Given the description of an element on the screen output the (x, y) to click on. 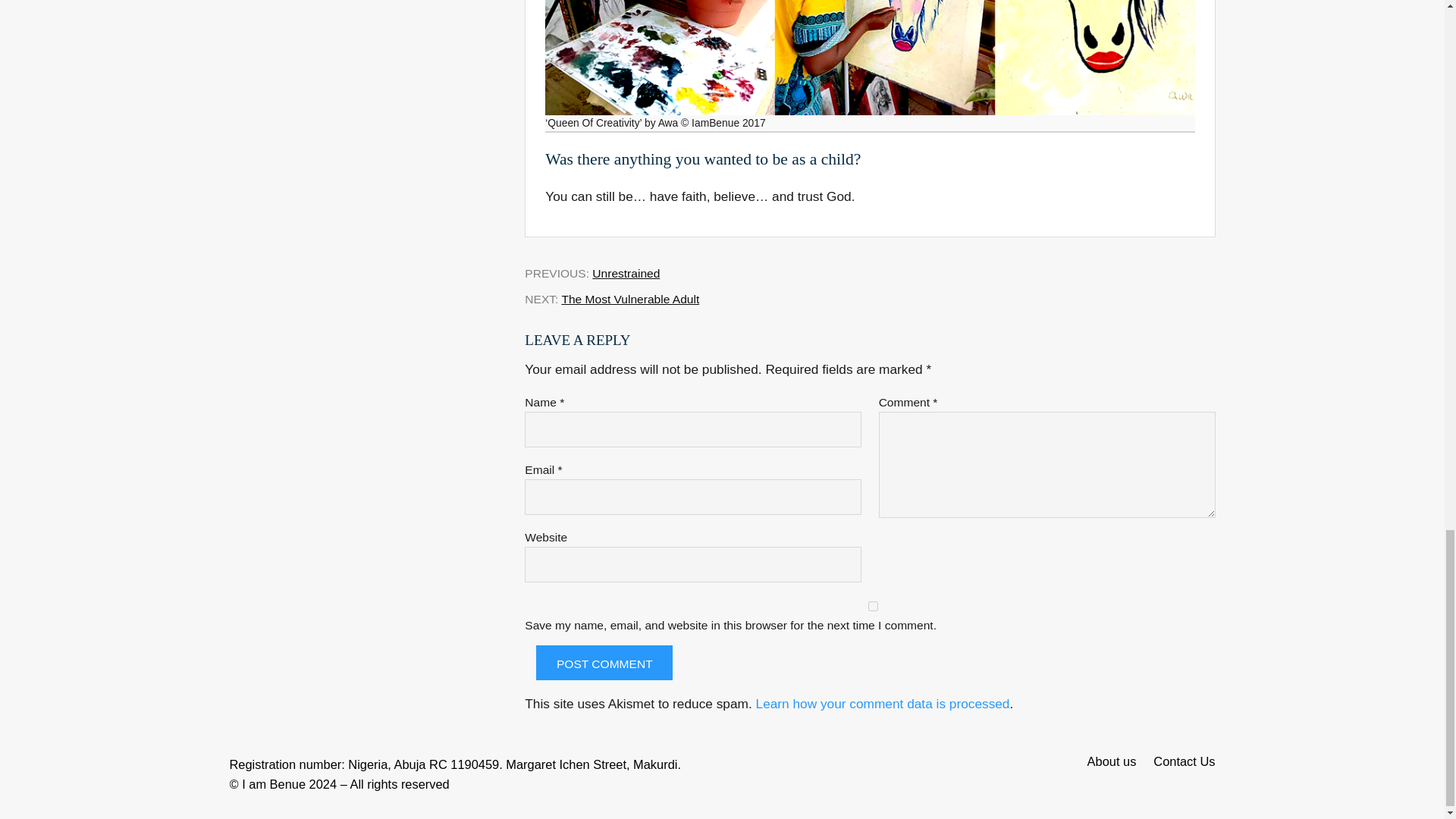
Post Comment (603, 662)
PREVIOUS: Unrestrained (591, 273)
NEXT: The Most Vulnerable Adult (611, 299)
yes (872, 605)
About us (1115, 761)
Contact Us (1179, 761)
Post Comment (603, 662)
Learn how your comment data is processed (882, 703)
